Given the description of an element on the screen output the (x, y) to click on. 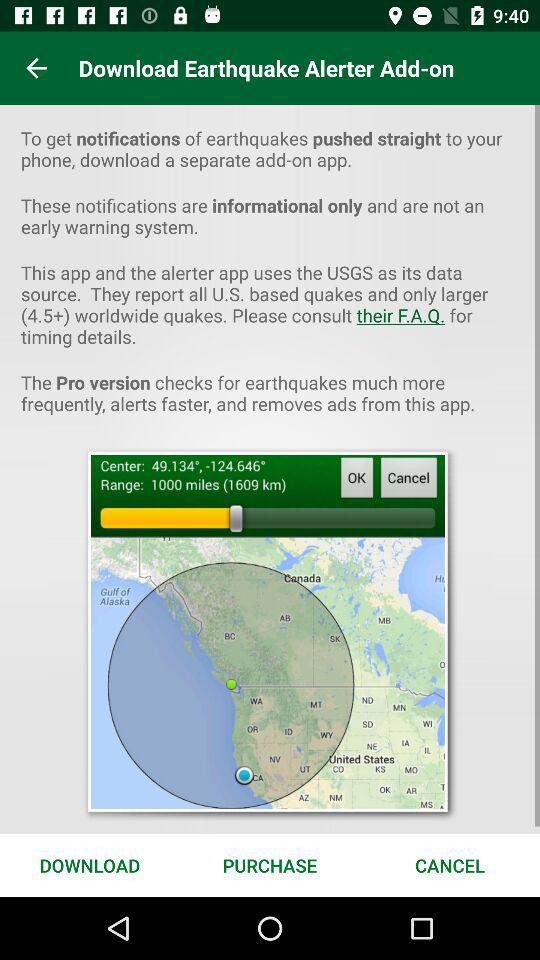
select the icon at the top left corner (36, 68)
